Given the description of an element on the screen output the (x, y) to click on. 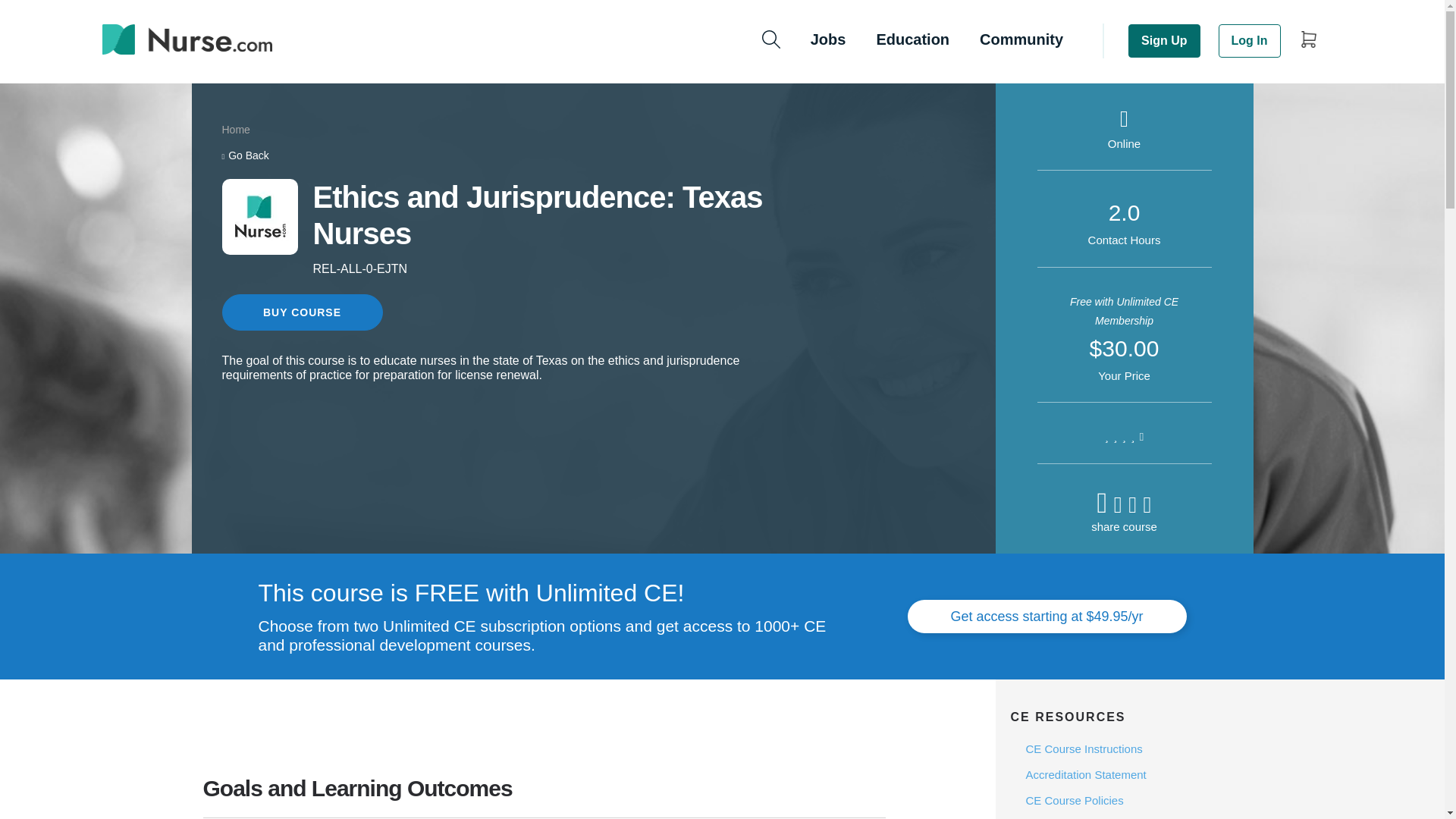
Home (234, 129)
BUY COURSE (301, 312)
Become an Unlimited CE Member (1046, 616)
